Given the description of an element on the screen output the (x, y) to click on. 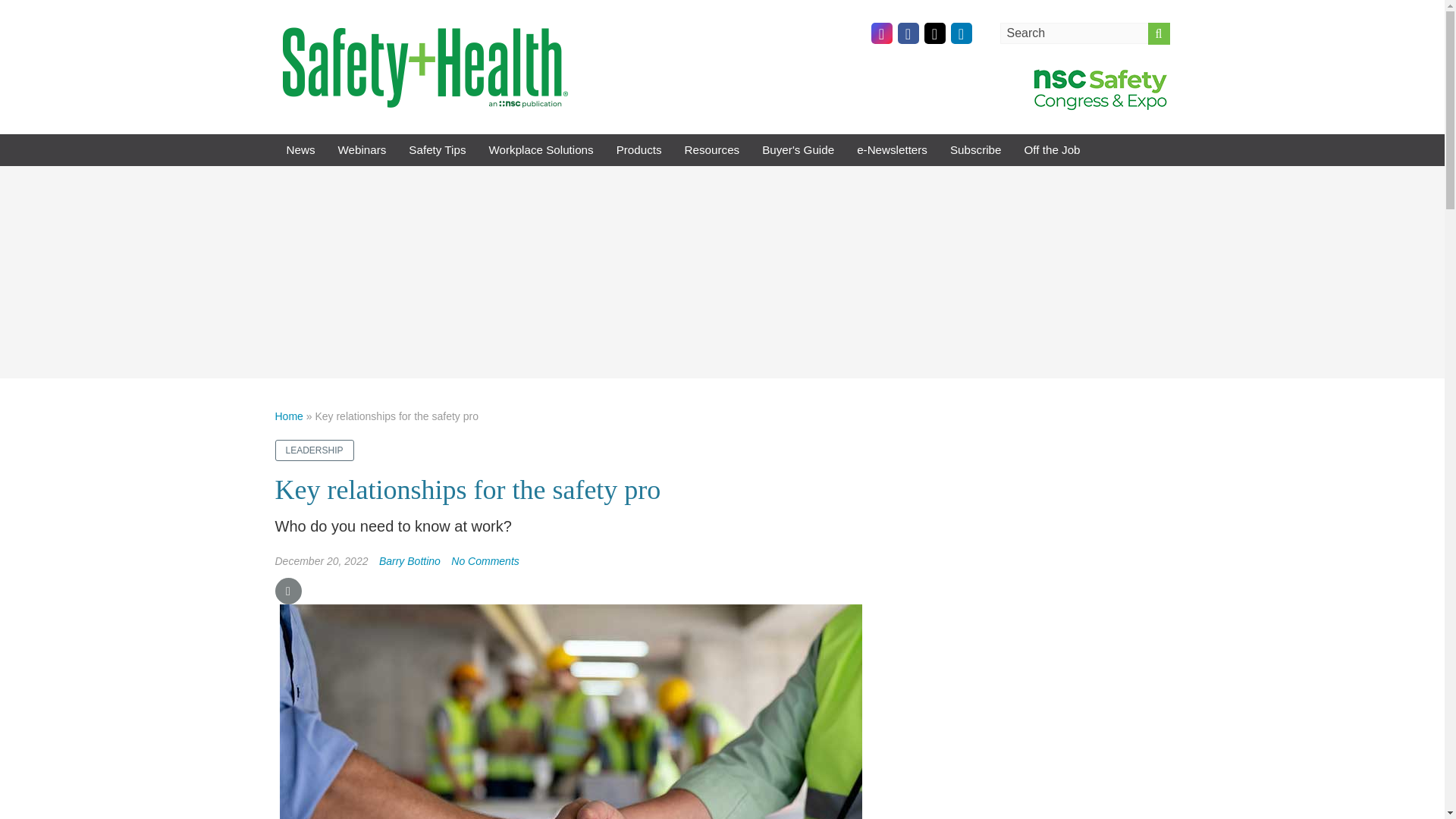
Key relationships for the safety pro (484, 561)
Safety Tips (437, 150)
Webinars (361, 150)
News (300, 150)
